Given the description of an element on the screen output the (x, y) to click on. 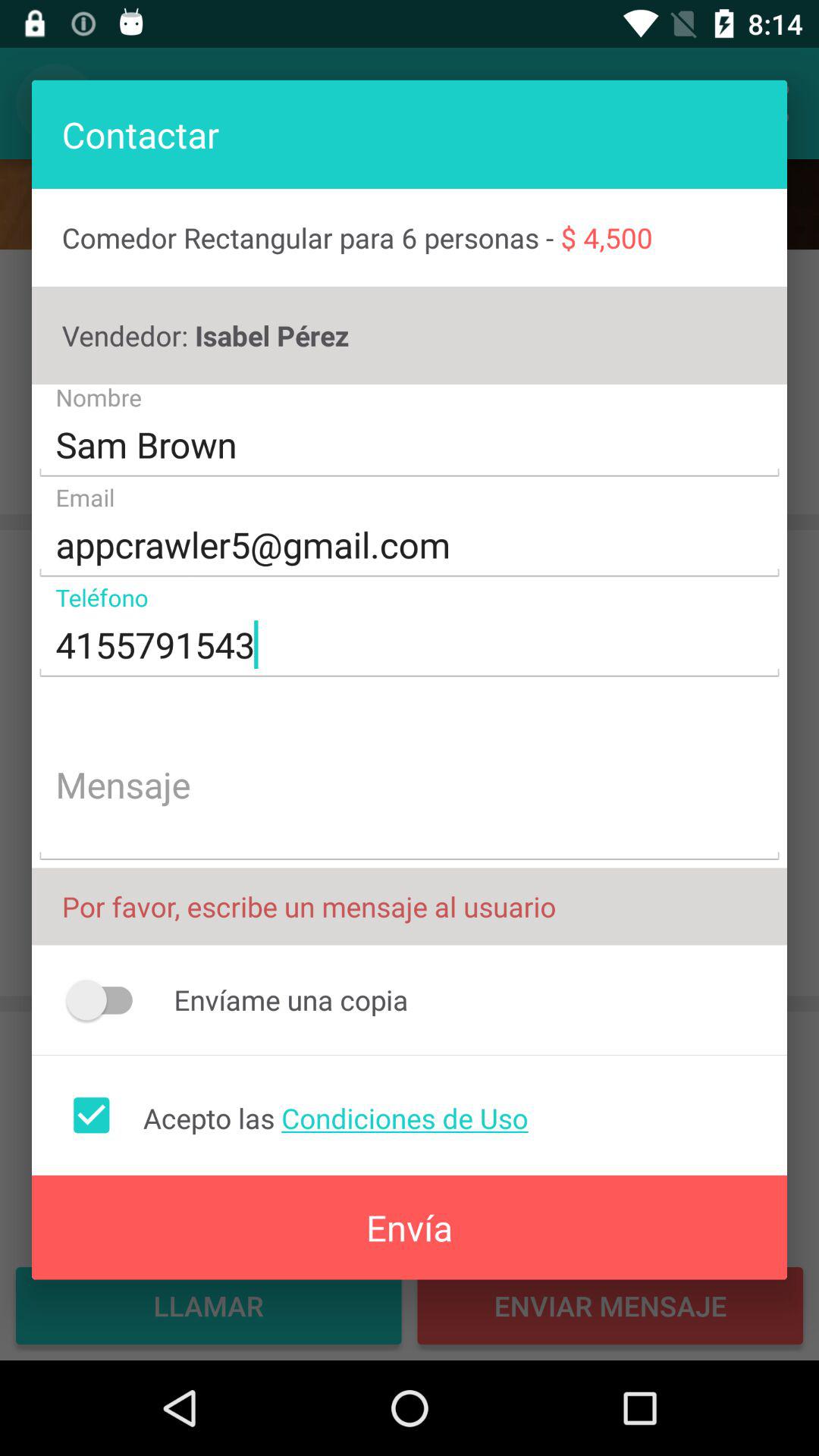
accept terms of use (91, 1115)
